Given the description of an element on the screen output the (x, y) to click on. 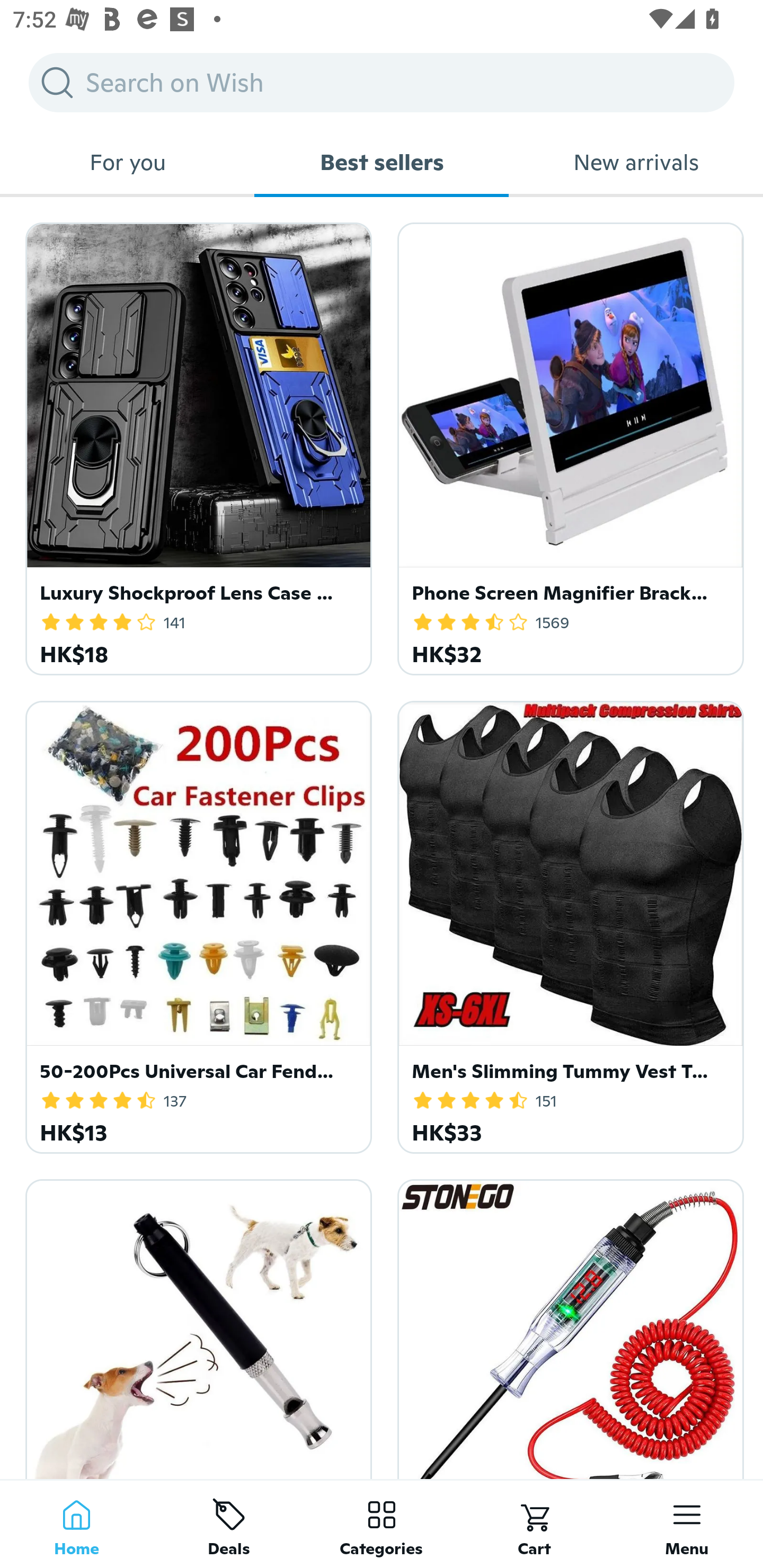
Search on Wish (381, 82)
For you (127, 161)
Best sellers (381, 161)
New arrivals (635, 161)
Home (76, 1523)
Deals (228, 1523)
Categories (381, 1523)
Cart (533, 1523)
Menu (686, 1523)
